Given the description of an element on the screen output the (x, y) to click on. 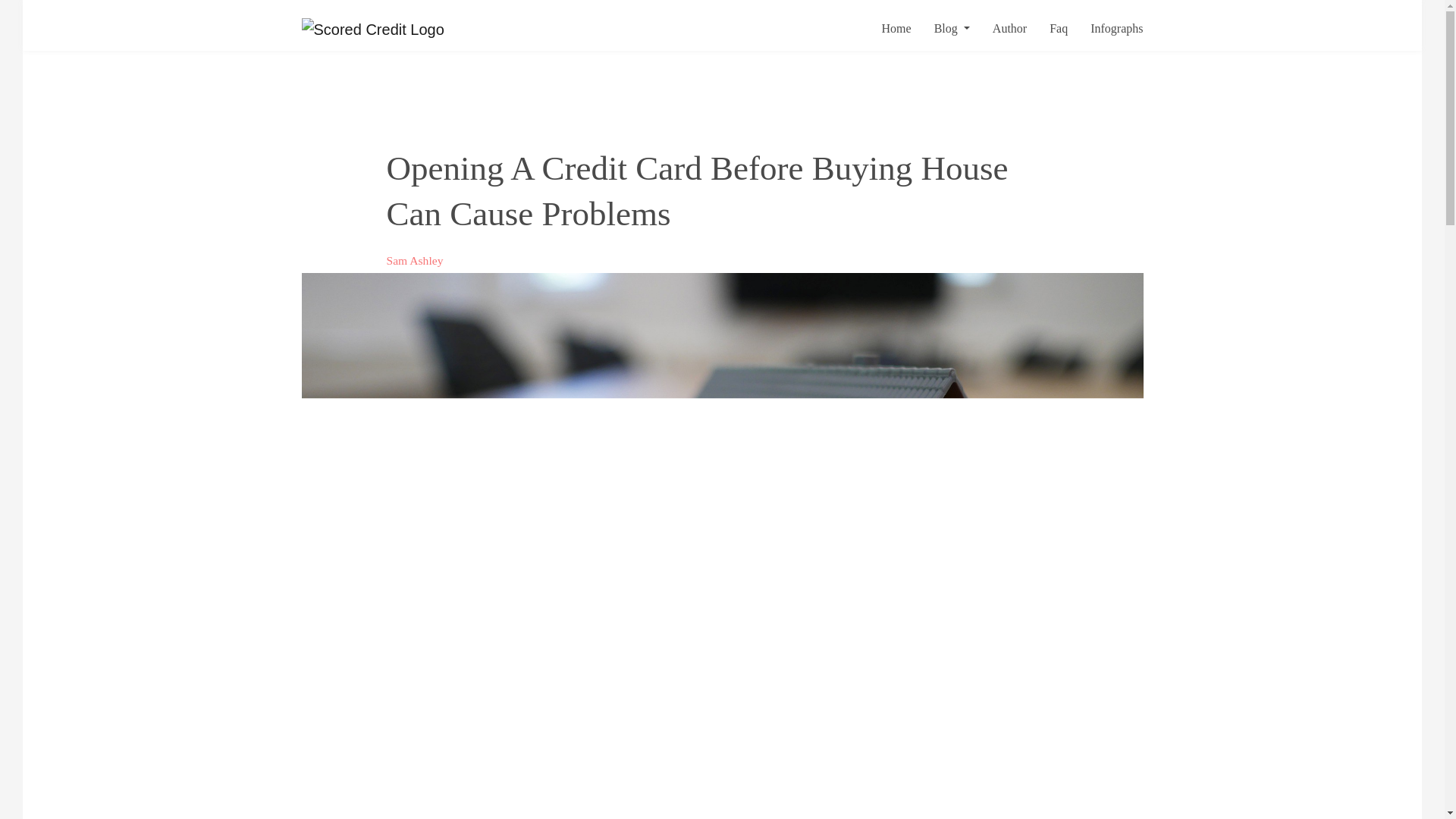
Scored Credit Logo (372, 29)
Infographs (1104, 28)
Blog (940, 28)
Faq (1046, 28)
Author (997, 28)
Sam Ashley (415, 259)
